Given the description of an element on the screen output the (x, y) to click on. 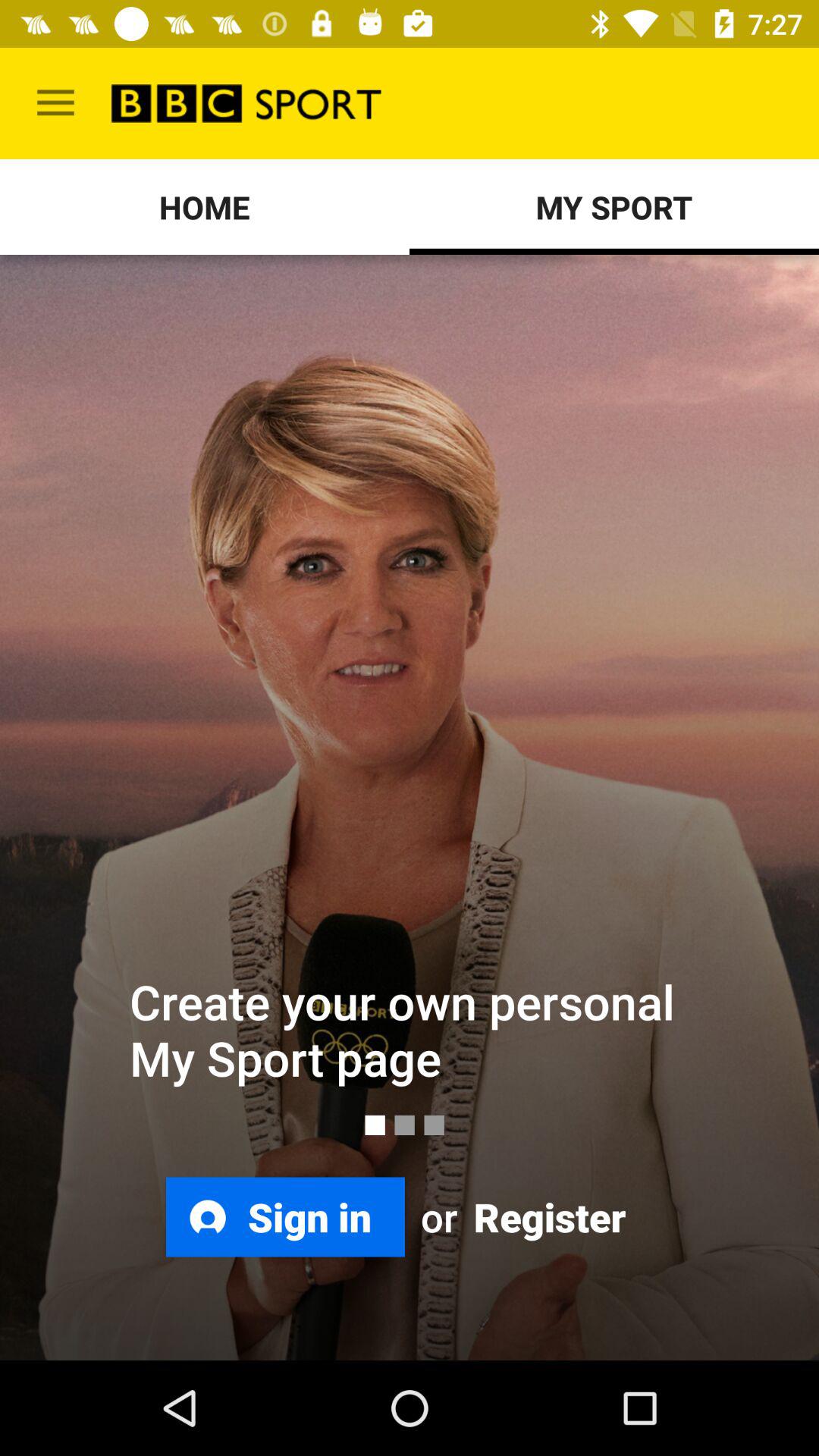
turn off home (204, 206)
